Given the description of an element on the screen output the (x, y) to click on. 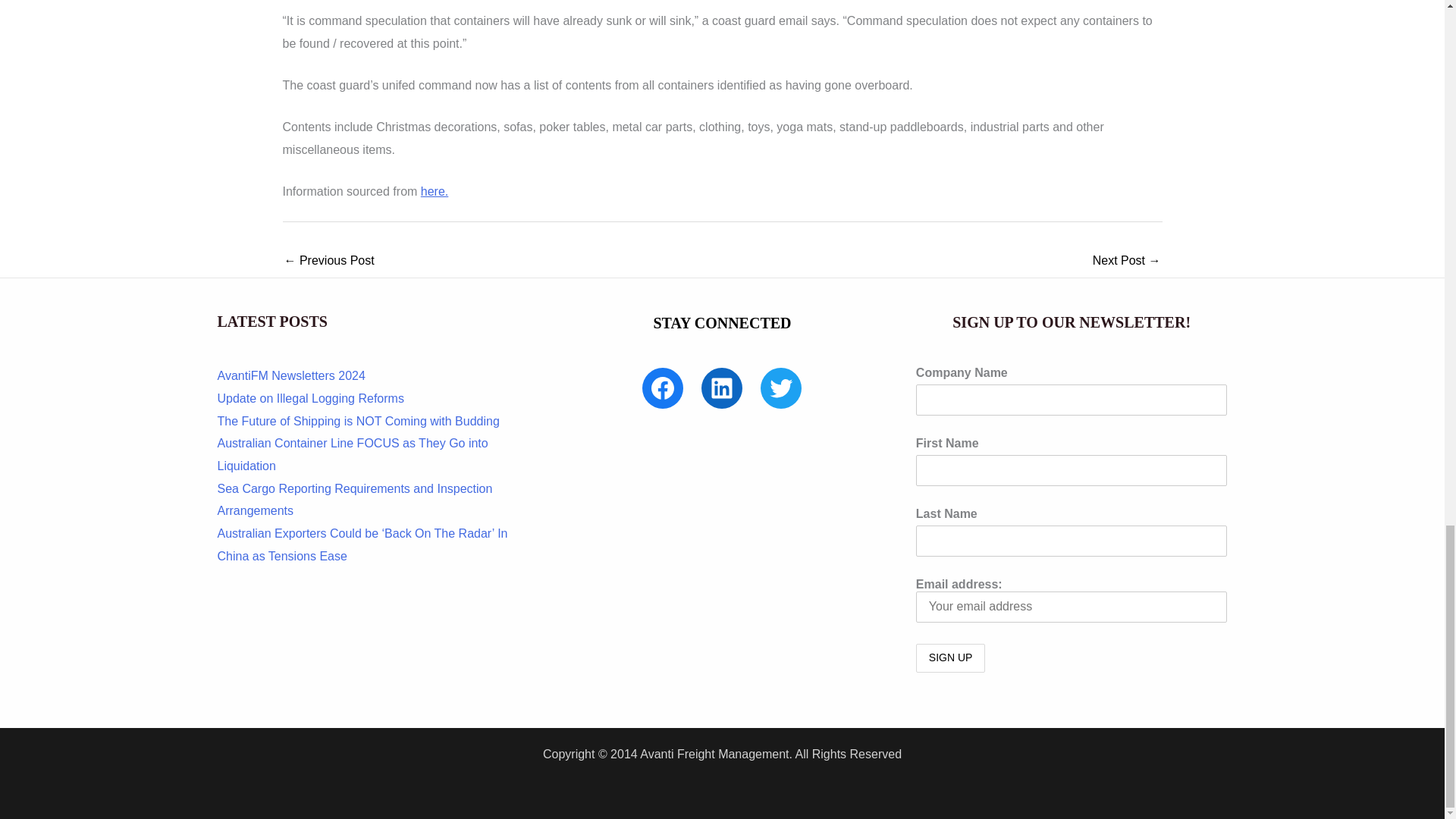
Sign up (950, 657)
295kg of Methamphetamine Found in Excavator in NSW (328, 262)
